Given the description of an element on the screen output the (x, y) to click on. 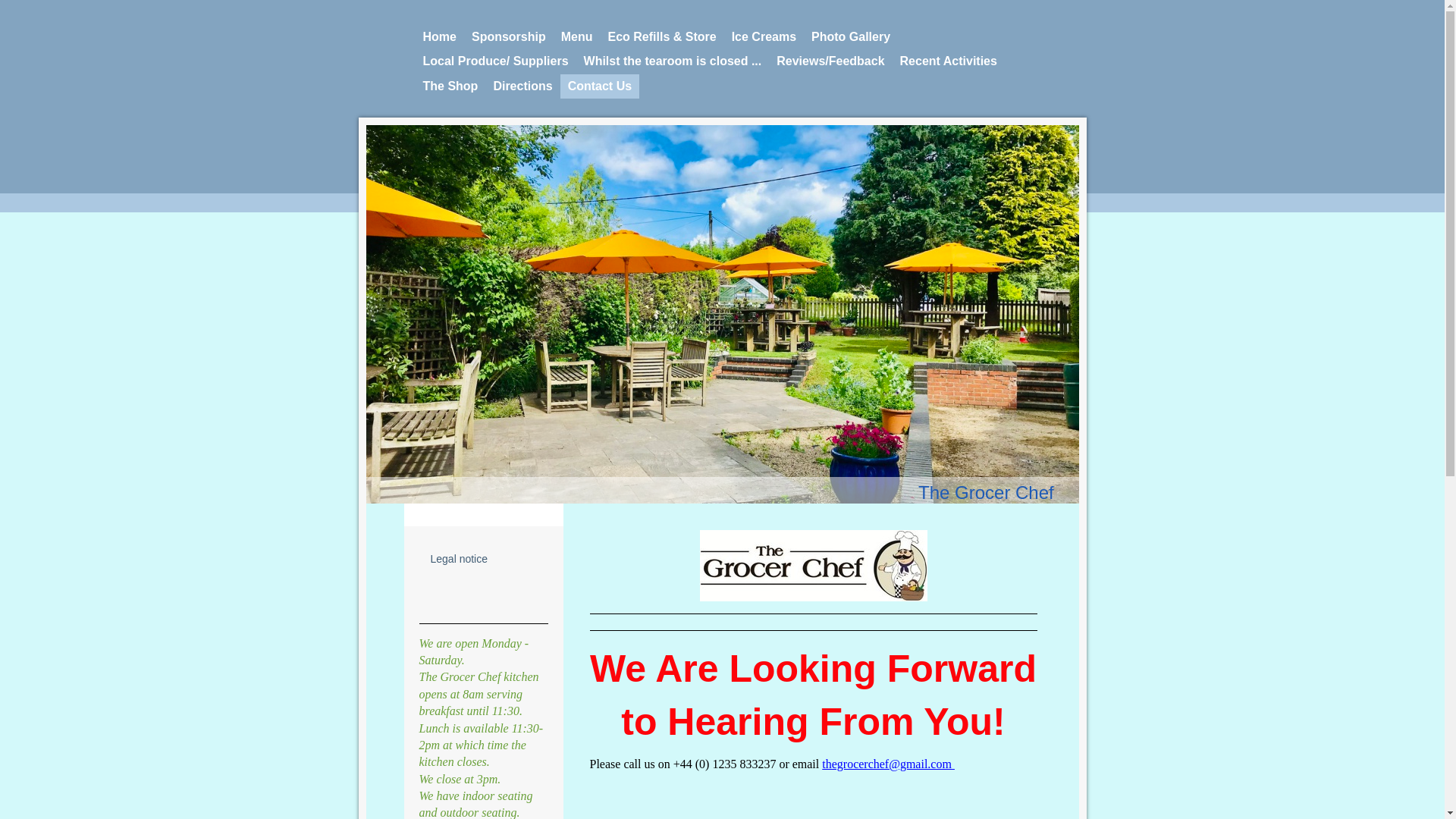
Contact Us (599, 86)
Photo Gallery (850, 37)
Whilst the tearoom is closed ... (673, 61)
Ice Creams (763, 37)
Menu (576, 37)
Sponsorship (508, 37)
Recent Activities (948, 61)
The Grocer Chef (986, 492)
Directions (521, 86)
The Shop (450, 86)
